Given the description of an element on the screen output the (x, y) to click on. 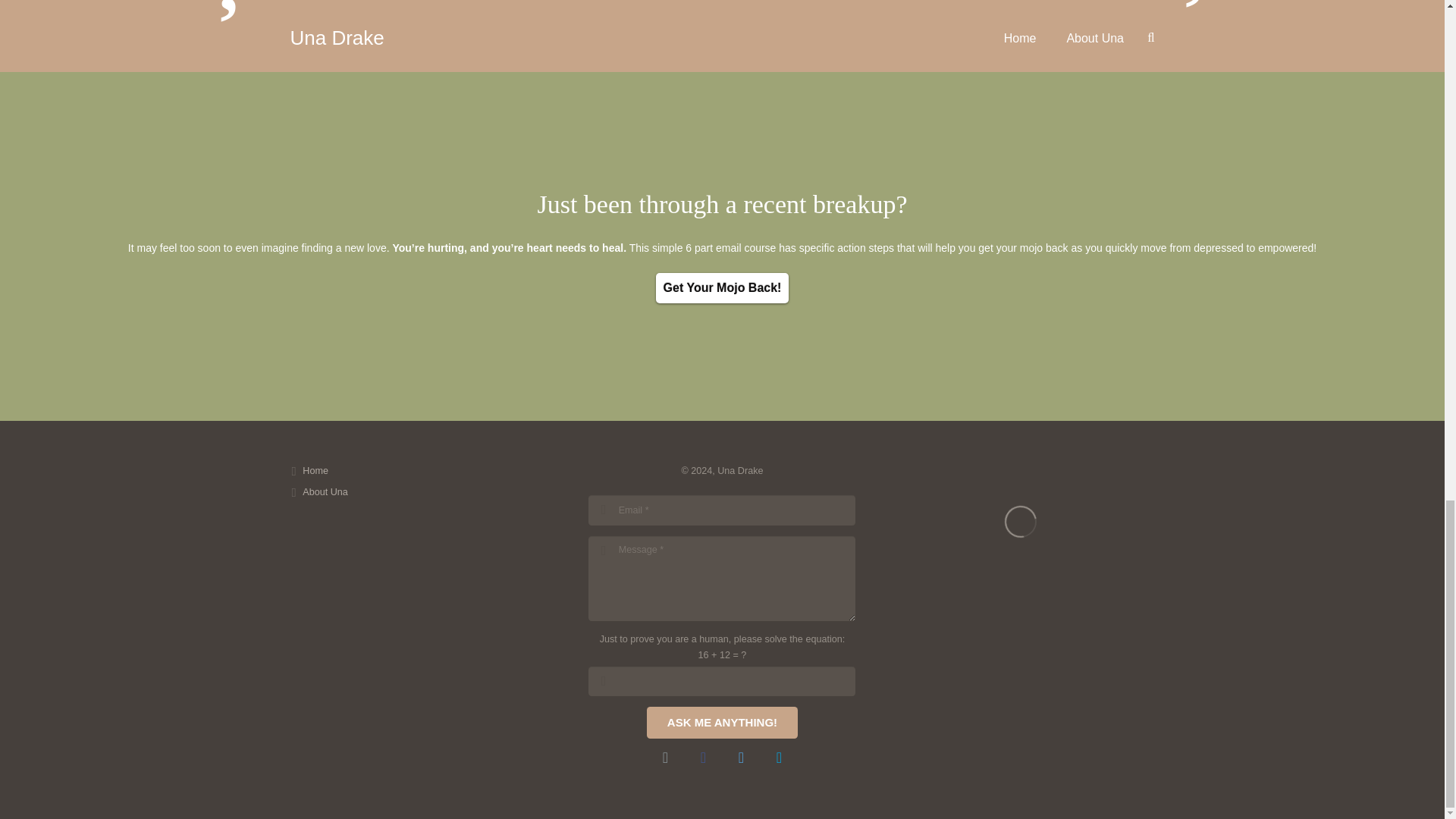
Get Your Mojo Back! (722, 287)
Home (315, 470)
About Una (324, 491)
ASK ME ANYTHING! (721, 722)
